Given the description of an element on the screen output the (x, y) to click on. 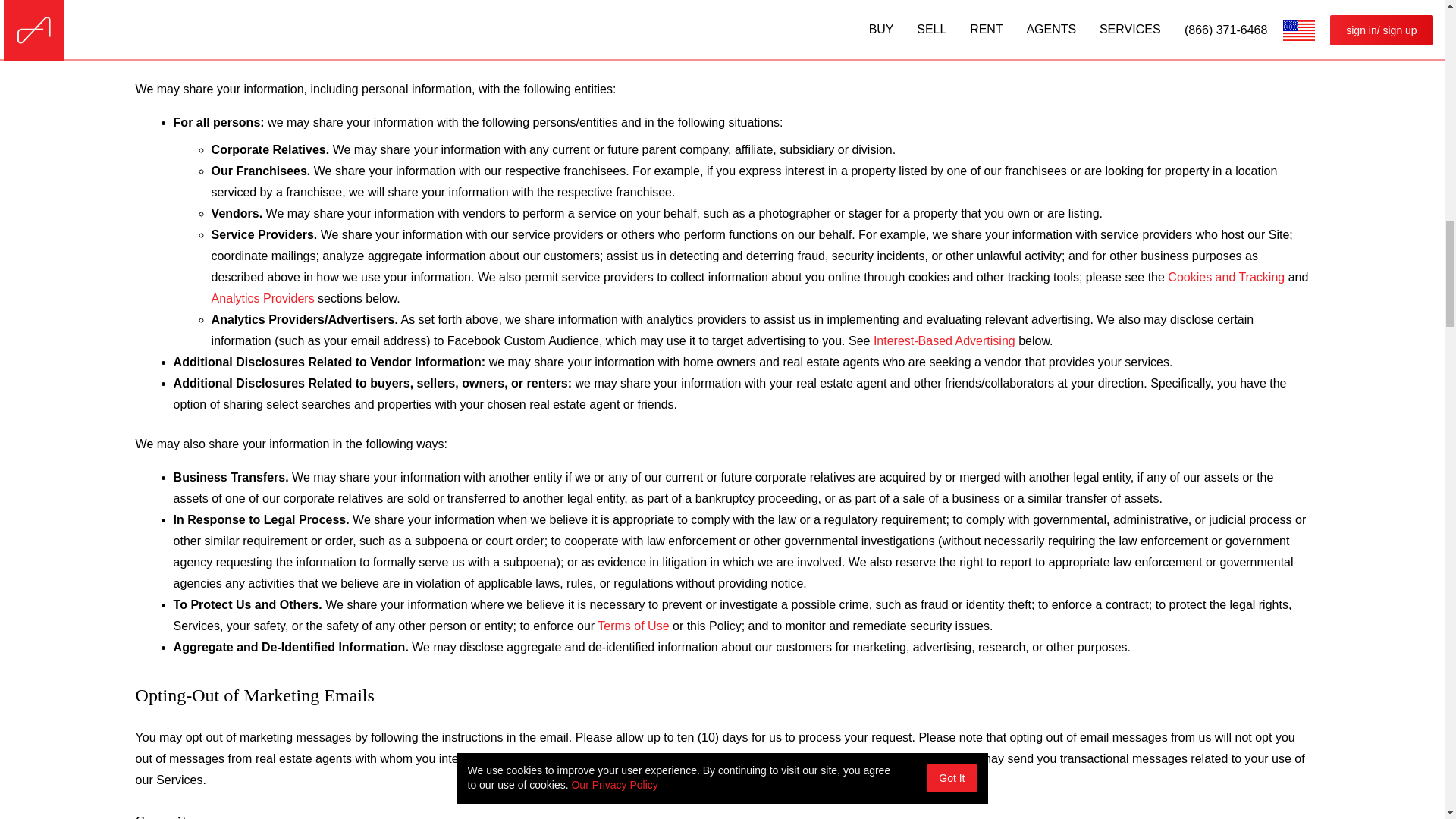
Interest-Based Advertising (943, 341)
Interest-Based Advertising (943, 341)
Cookies and Tracking (1225, 277)
Analytics Providers (262, 298)
Terms of Use (632, 626)
Terms of Use (632, 626)
Analytics Providers (262, 298)
Cookies and Tracking (1225, 277)
